Given the description of an element on the screen output the (x, y) to click on. 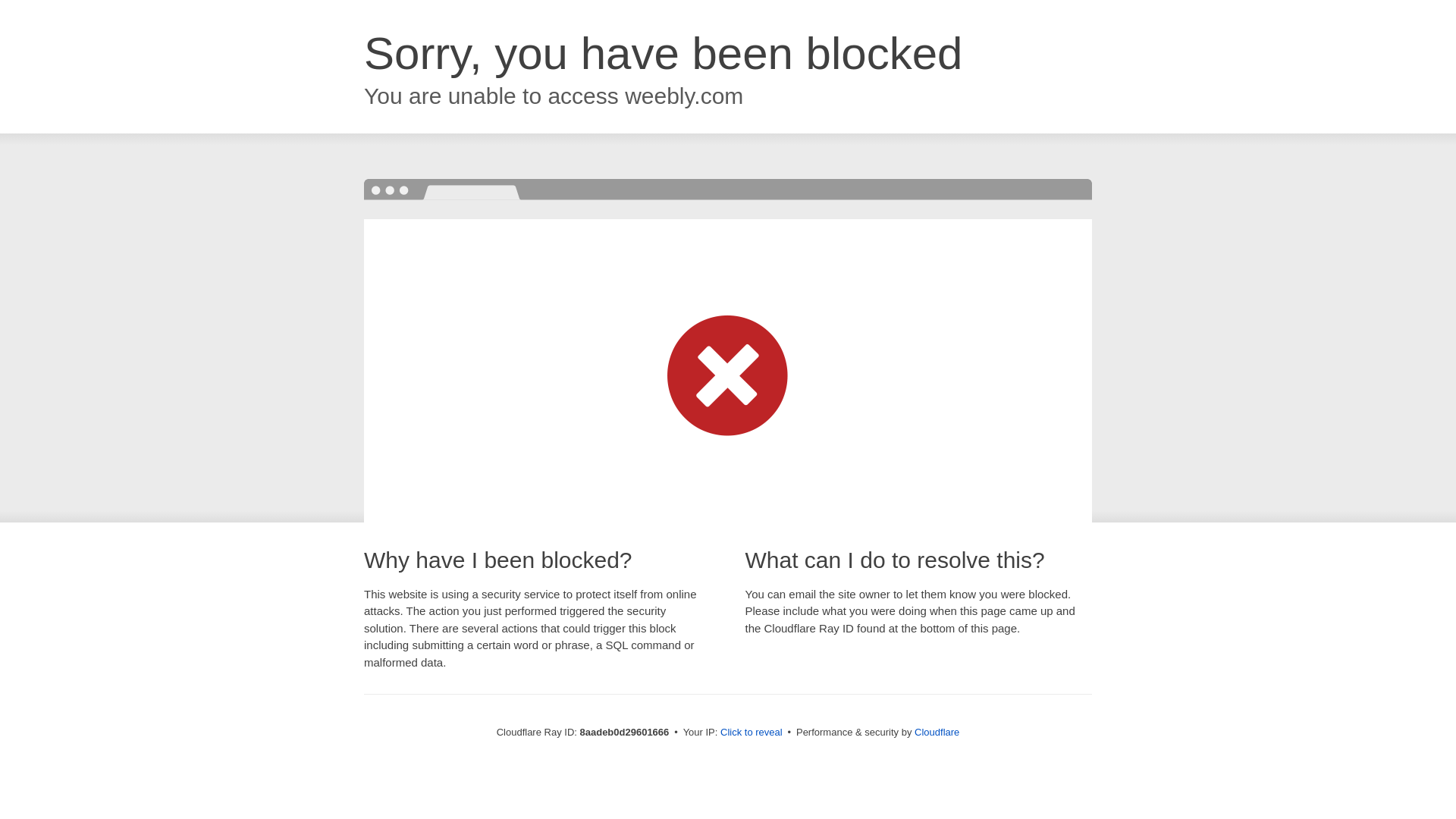
Click to reveal (751, 732)
Cloudflare (936, 731)
